Given the description of an element on the screen output the (x, y) to click on. 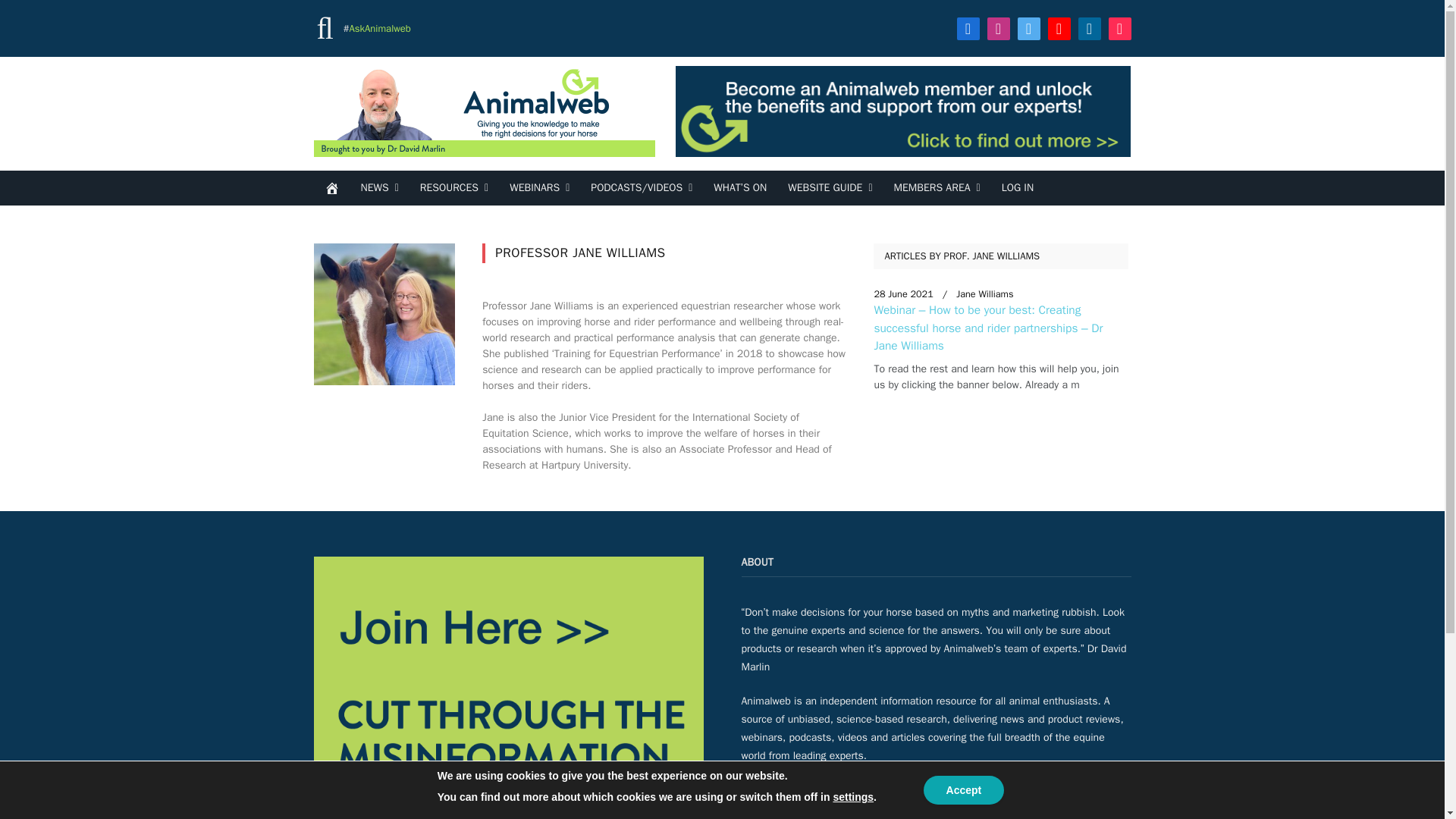
RESOURCES (454, 187)
WEBINARS (539, 187)
Instagram (998, 27)
NEWS (379, 187)
Facebook (967, 27)
YouTube (1059, 27)
TikTok (1119, 27)
LinkedIn (1089, 27)
